Given the description of an element on the screen output the (x, y) to click on. 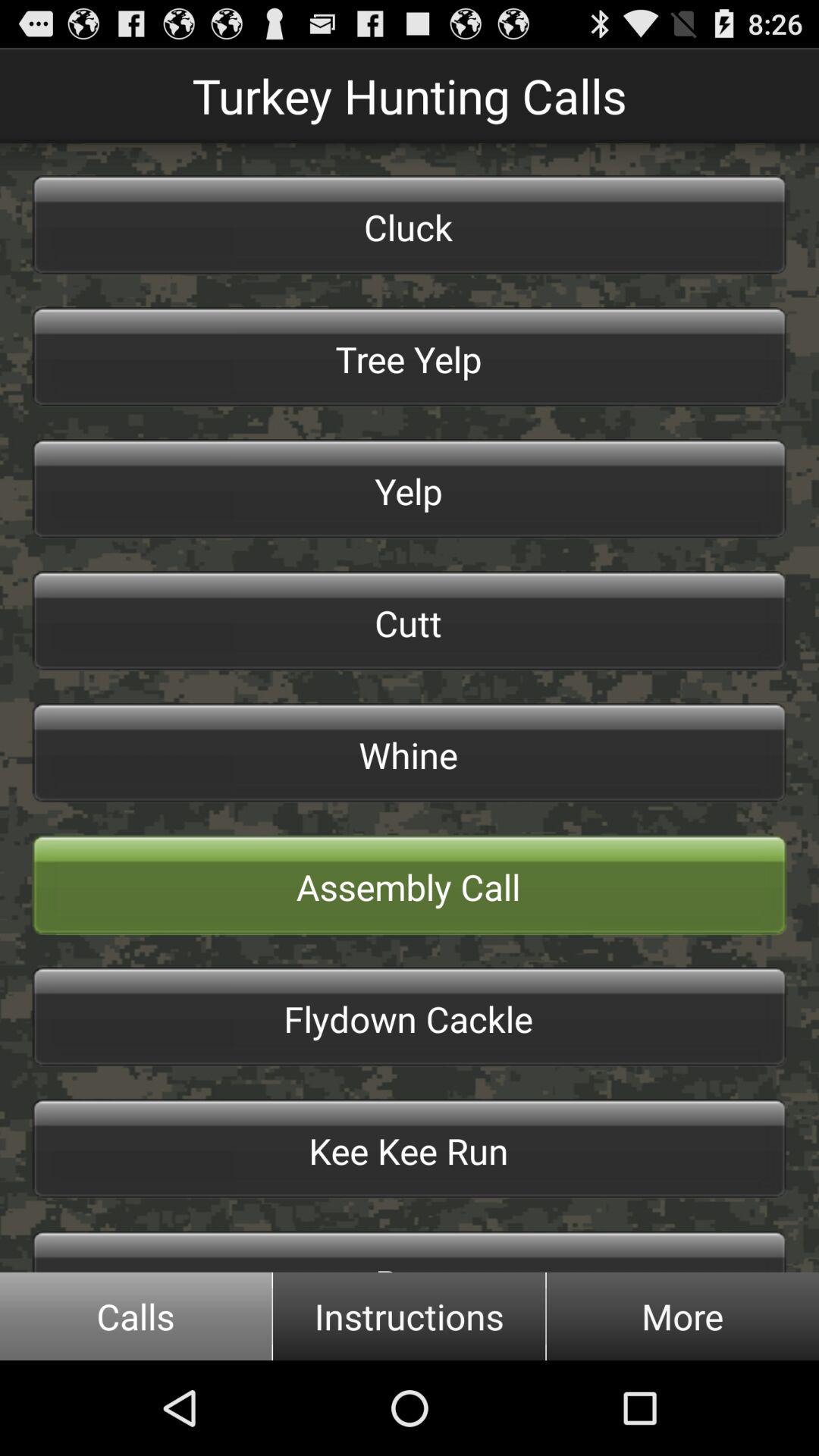
jump to tree yelp icon (409, 357)
